Given the description of an element on the screen output the (x, y) to click on. 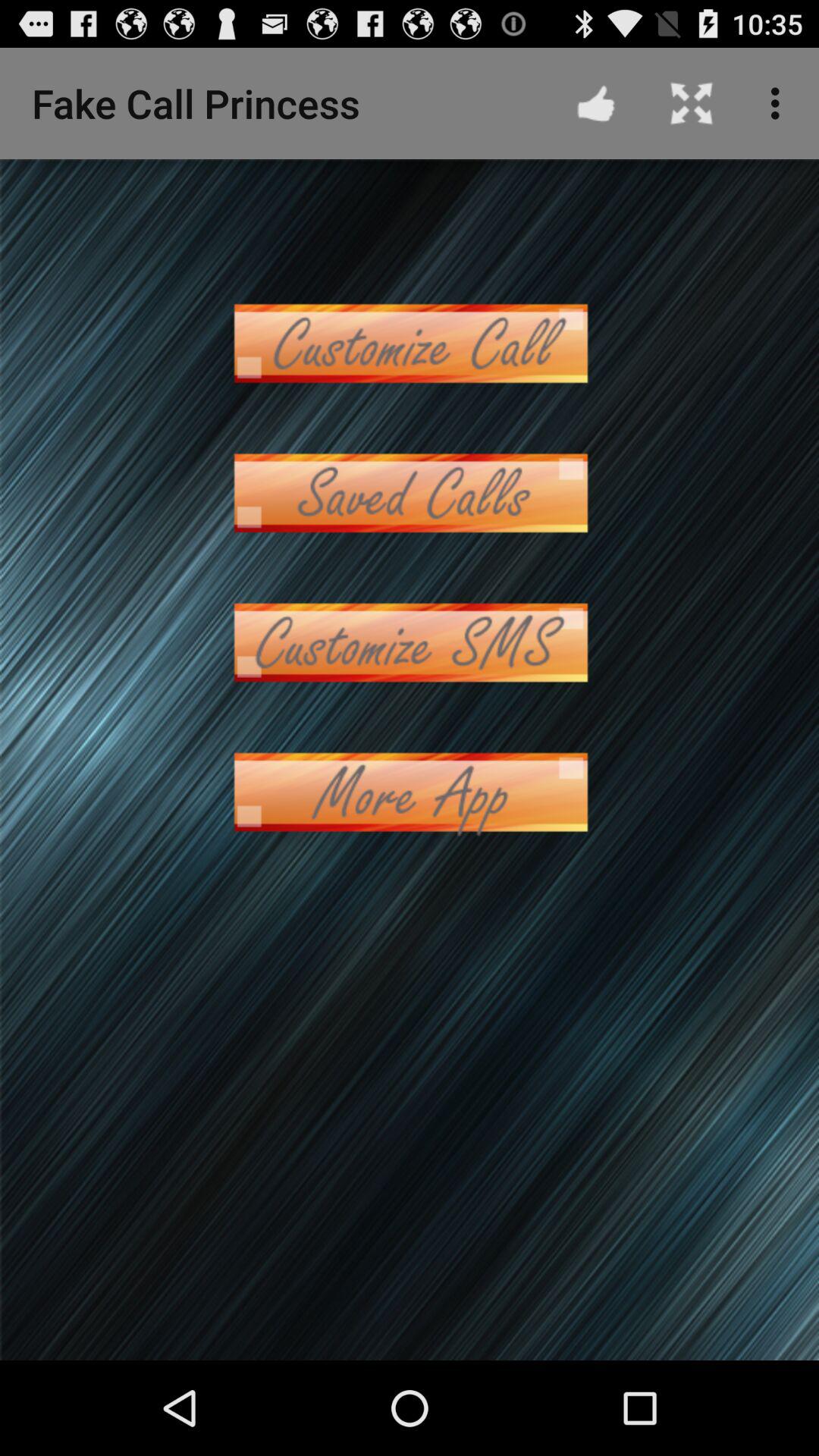
open the more application (409, 792)
